Given the description of an element on the screen output the (x, y) to click on. 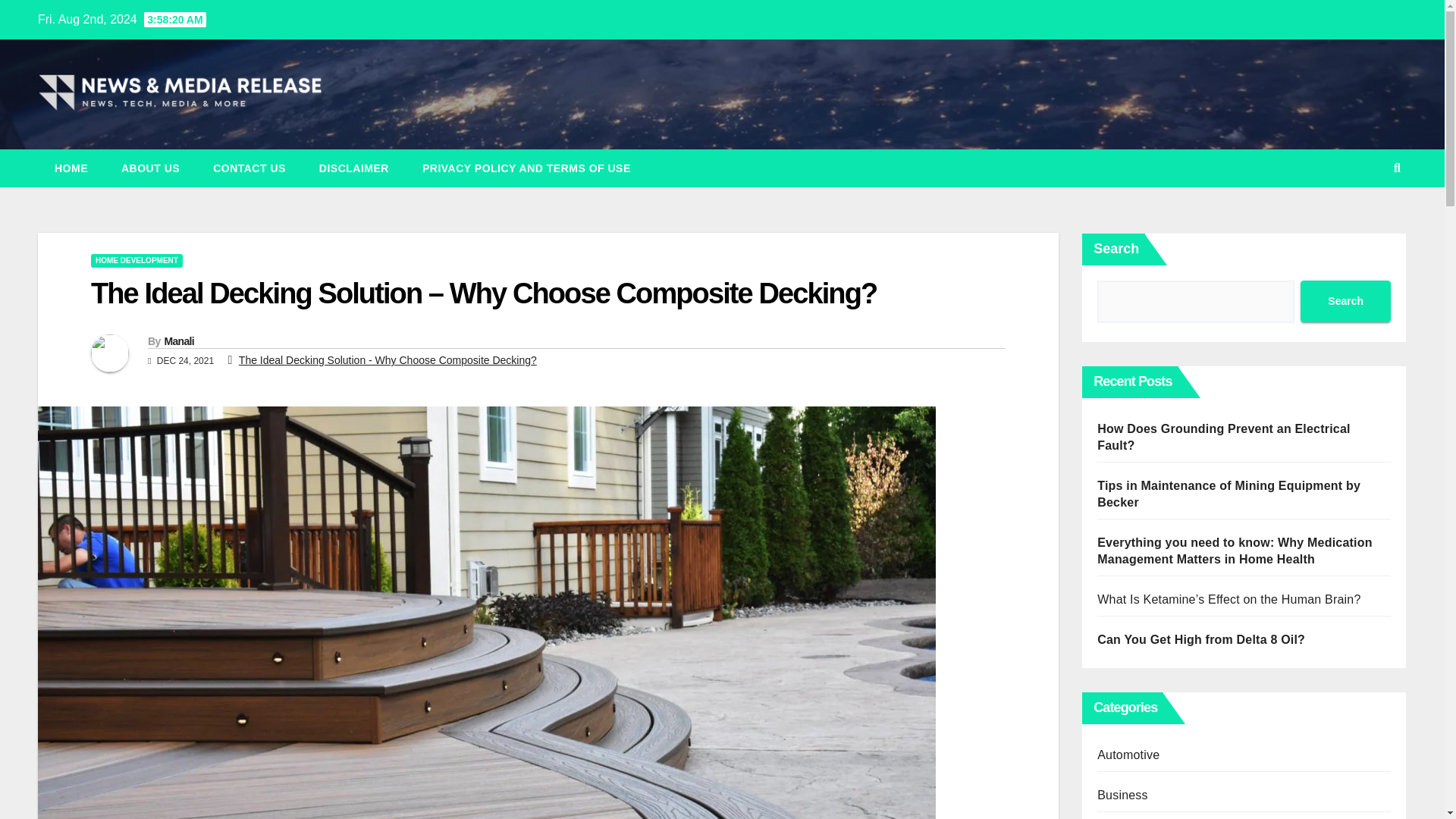
HOME (70, 168)
Manali (178, 340)
PRIVACY POLICY AND TERMS OF USE (526, 168)
ABOUT US (150, 168)
The Ideal Decking Solution - Why Choose Composite Decking? (387, 359)
Home (70, 168)
CONTACT US (249, 168)
DISCLAIMER (354, 168)
HOME DEVELOPMENT (136, 260)
